Given the description of an element on the screen output the (x, y) to click on. 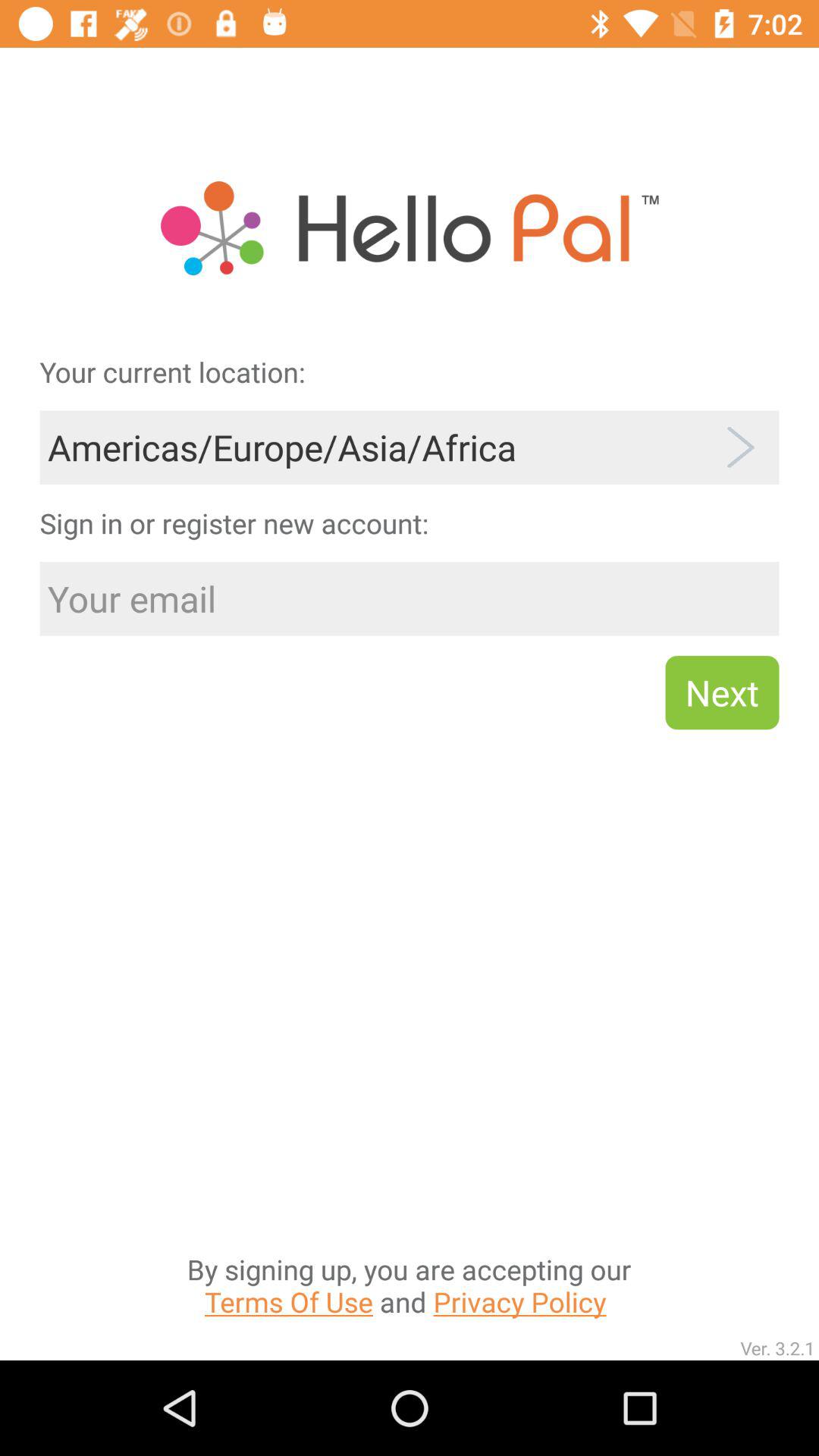
click item above your current location: item (409, 180)
